Given the description of an element on the screen output the (x, y) to click on. 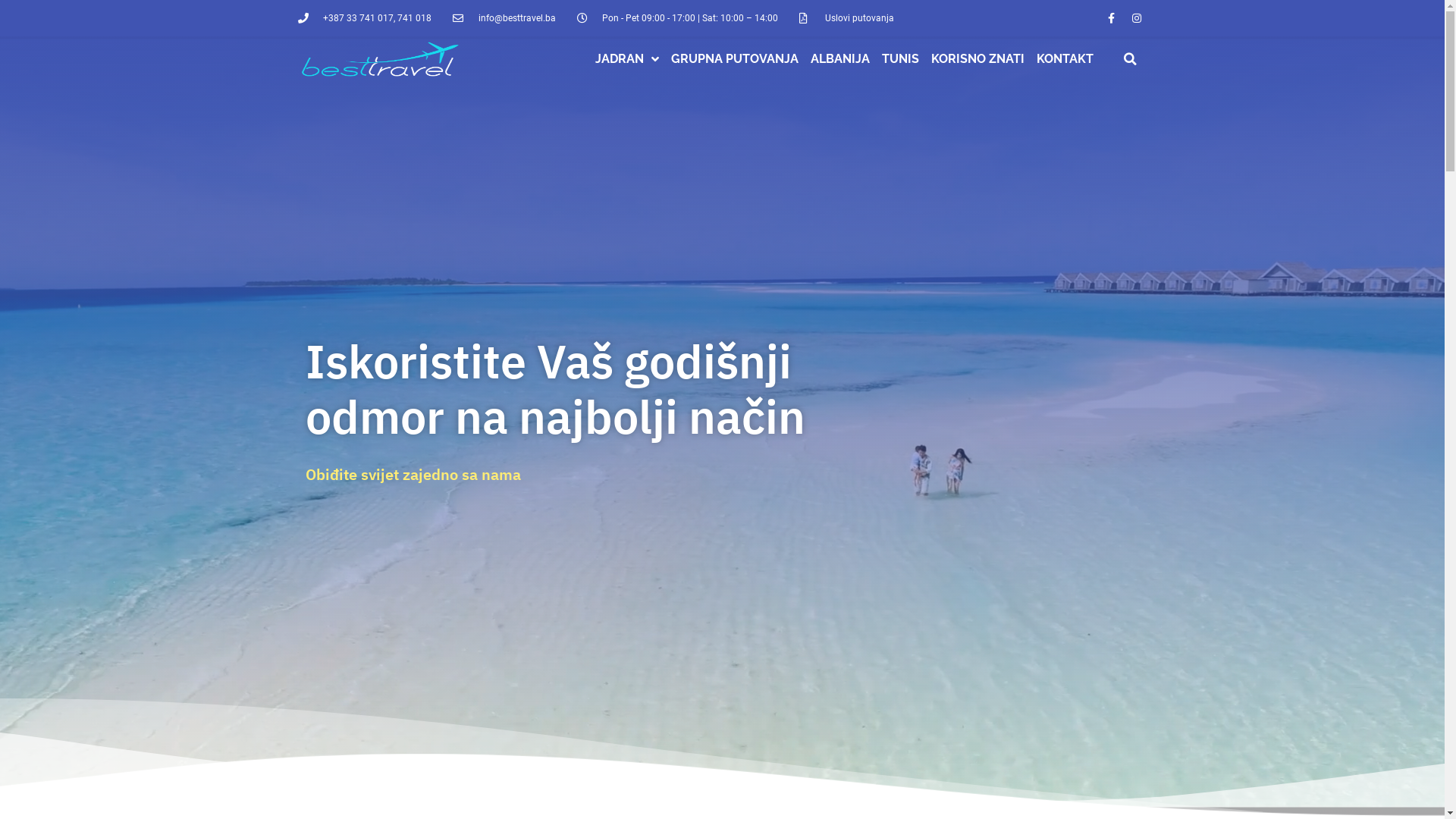
Uslovi putovanja Element type: text (846, 17)
KONTAKT Element type: text (1064, 58)
TUNIS Element type: text (900, 58)
ALBANIJA Element type: text (839, 58)
JADRAN Element type: text (627, 58)
GRUPNA PUTOVANJA Element type: text (734, 58)
KORISNO ZNATI Element type: text (977, 58)
